Given the description of an element on the screen output the (x, y) to click on. 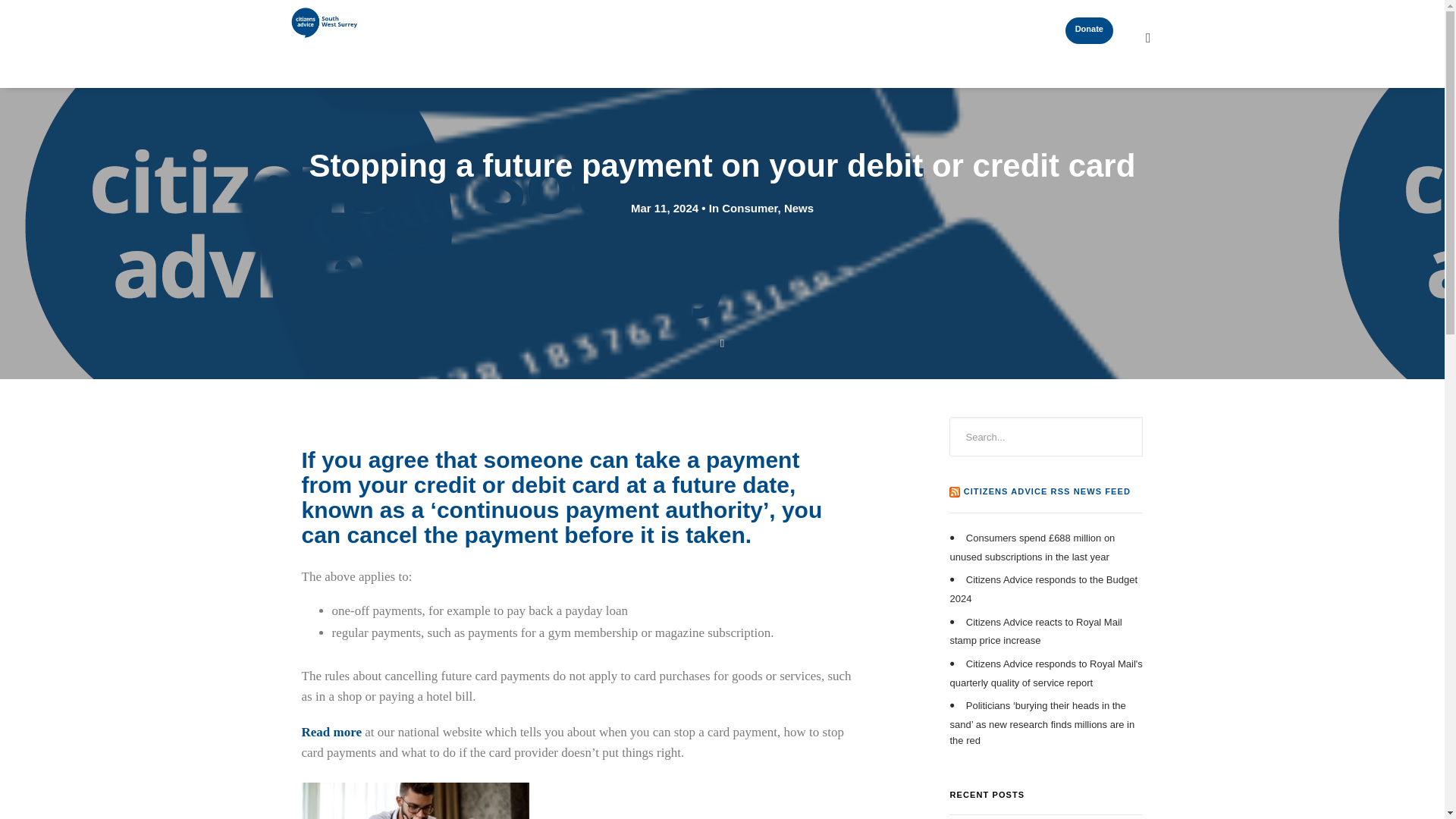
Get involved (733, 26)
Get advice (637, 26)
Consumer (749, 207)
About us (879, 26)
News (812, 25)
Donate (1089, 30)
Home (563, 25)
News (798, 207)
Read more (331, 731)
